Given the description of an element on the screen output the (x, y) to click on. 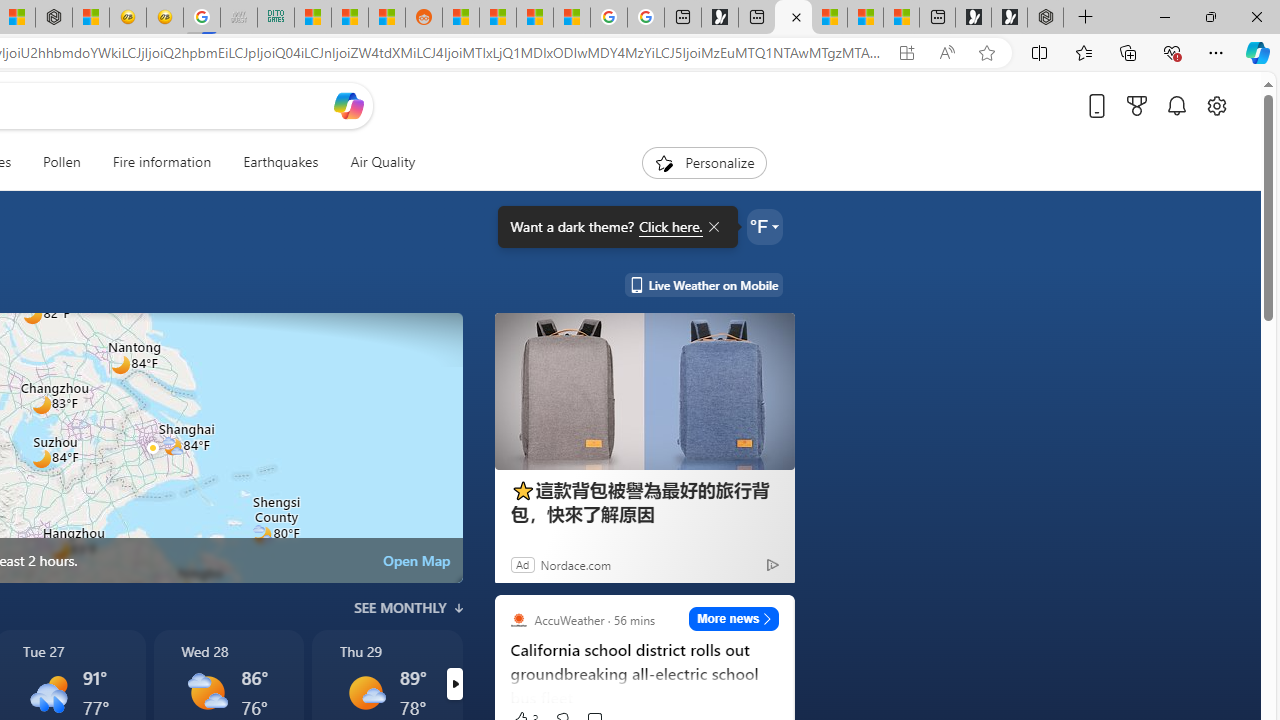
Class: BubbleMessageCloseIcon-DS-EntryPoint1-1 (712, 227)
New tab (937, 17)
Open Copilot (347, 105)
See Monthly (408, 607)
